Given the description of an element on the screen output the (x, y) to click on. 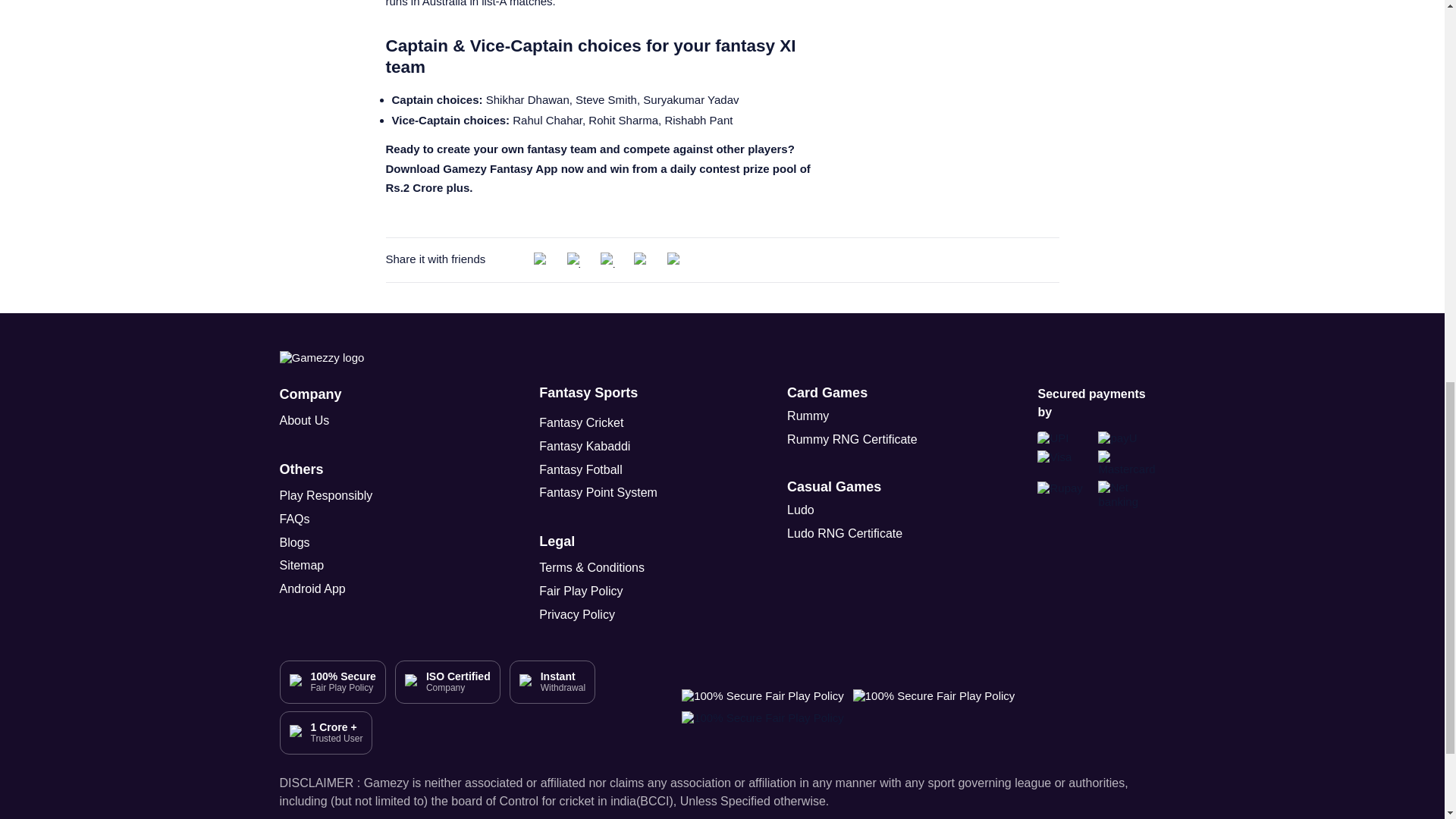
Privacy Policy (599, 615)
Android App (339, 589)
Blogs (339, 543)
Fantasy Sports (587, 392)
Fantasy Point System (598, 493)
Fantasy Cricket (580, 423)
Fantasy Kabaddi (584, 446)
Offers (1097, 72)
FAQ (1016, 72)
Casual Games (833, 486)
